Given the description of an element on the screen output the (x, y) to click on. 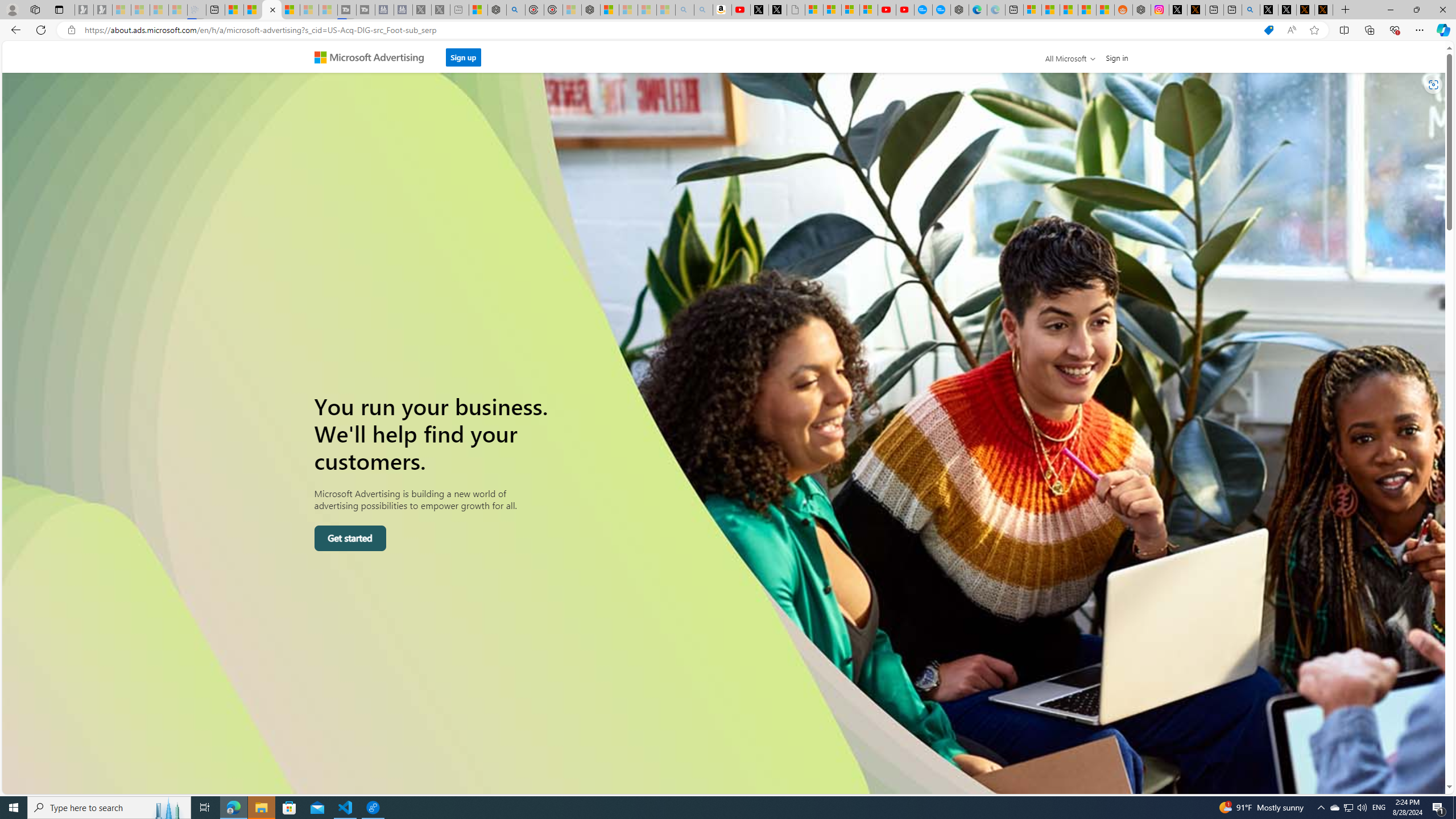
Sign in (1116, 57)
Shanghai, China hourly forecast | Microsoft Weather (1069, 9)
Sign up (463, 57)
X (778, 9)
Untitled (795, 9)
X Privacy Policy (1324, 9)
